Given the description of an element on the screen output the (x, y) to click on. 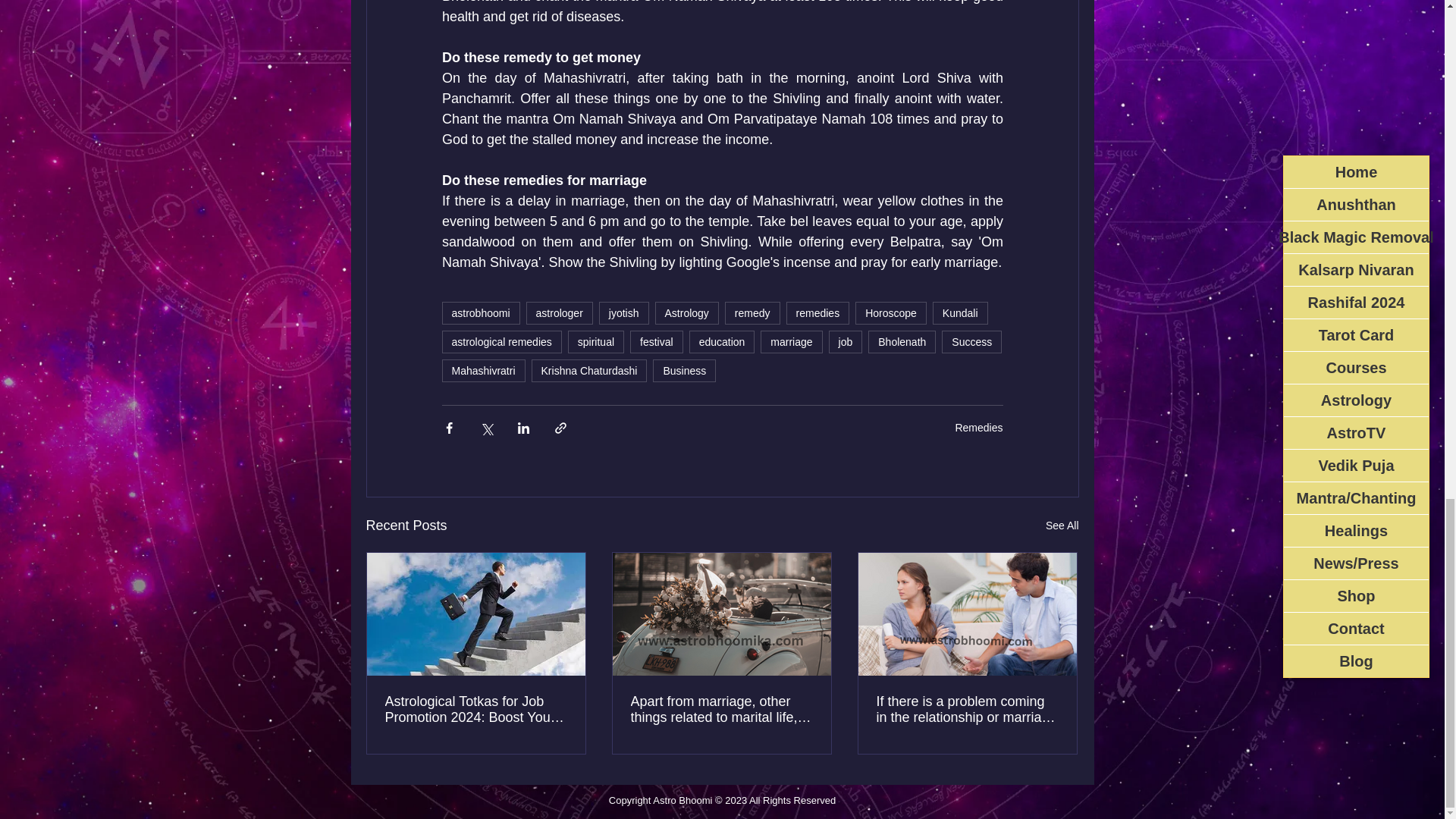
astrobhoomi (480, 313)
Astrology (687, 313)
jyotish (623, 313)
astrologer (558, 313)
